Given the description of an element on the screen output the (x, y) to click on. 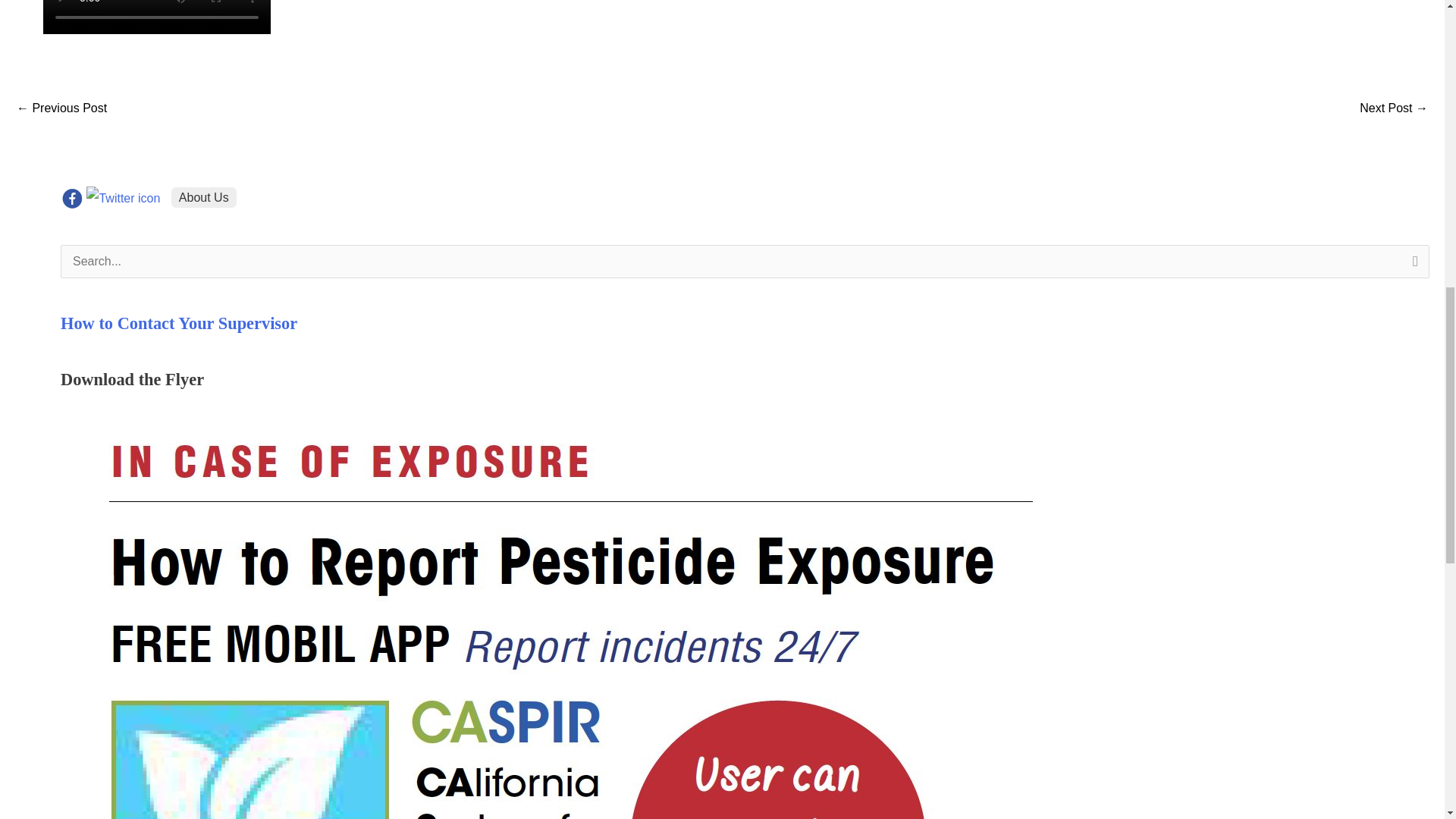
Contact Us (766, 785)
A Better Location for winery events and tasting rooms (1393, 109)
Admin (753, 808)
SOURED ON GRAPES, locals speak out on impacts (61, 109)
How to Contact Your Supervisor (179, 322)
About Us (272, 197)
Donate (64, 779)
Our Team (763, 762)
About Us (761, 739)
